Given the description of an element on the screen output the (x, y) to click on. 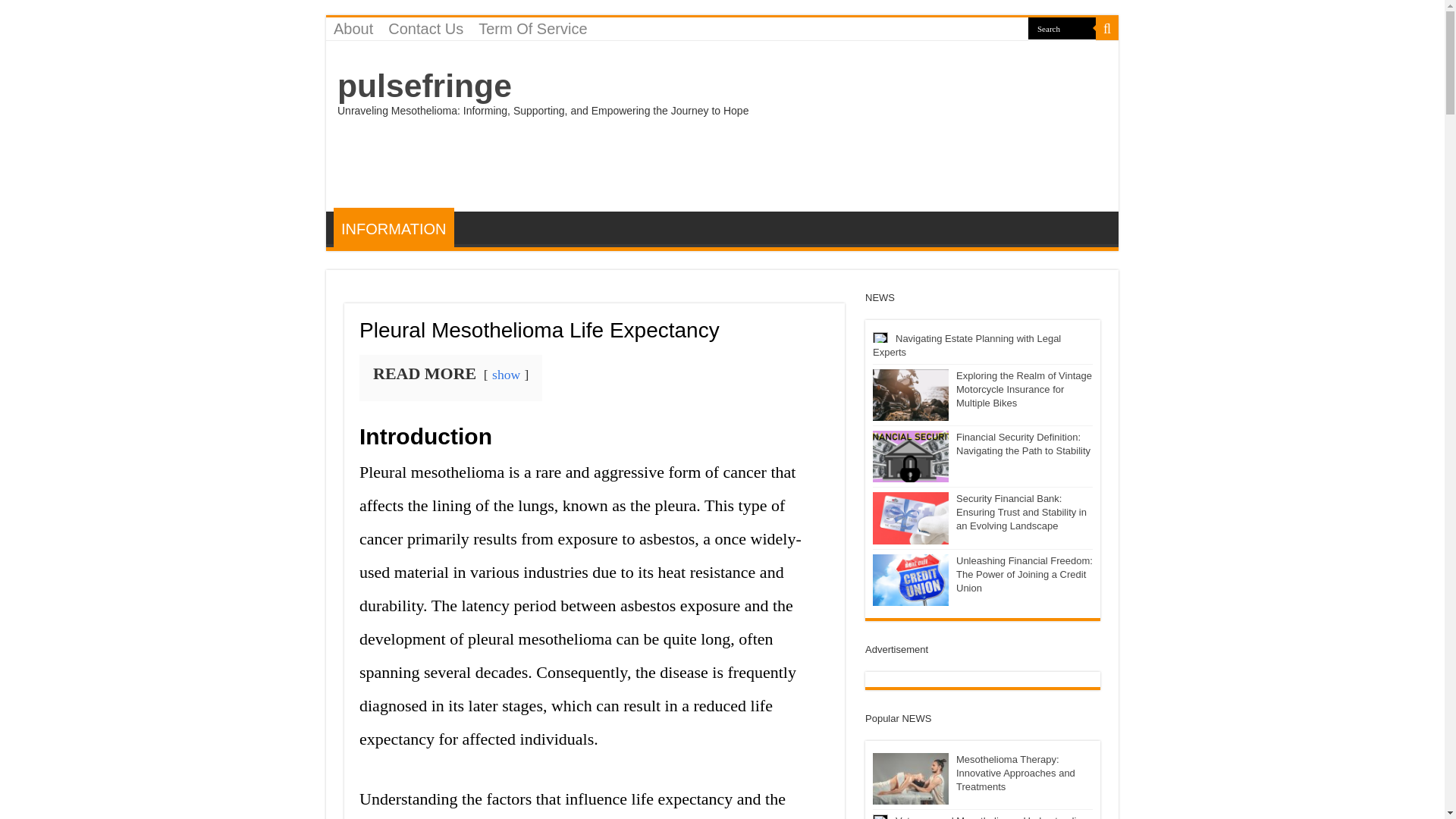
Mesothelioma Therapy: Innovative Approaches and Treatments (910, 778)
INFORMATION (393, 227)
show (505, 374)
Search (1061, 28)
pulsefringe (424, 85)
Search (1061, 28)
About (353, 28)
Search (1107, 28)
Contact Us (425, 28)
Search (1061, 28)
Term Of Service (532, 28)
